Given the description of an element on the screen output the (x, y) to click on. 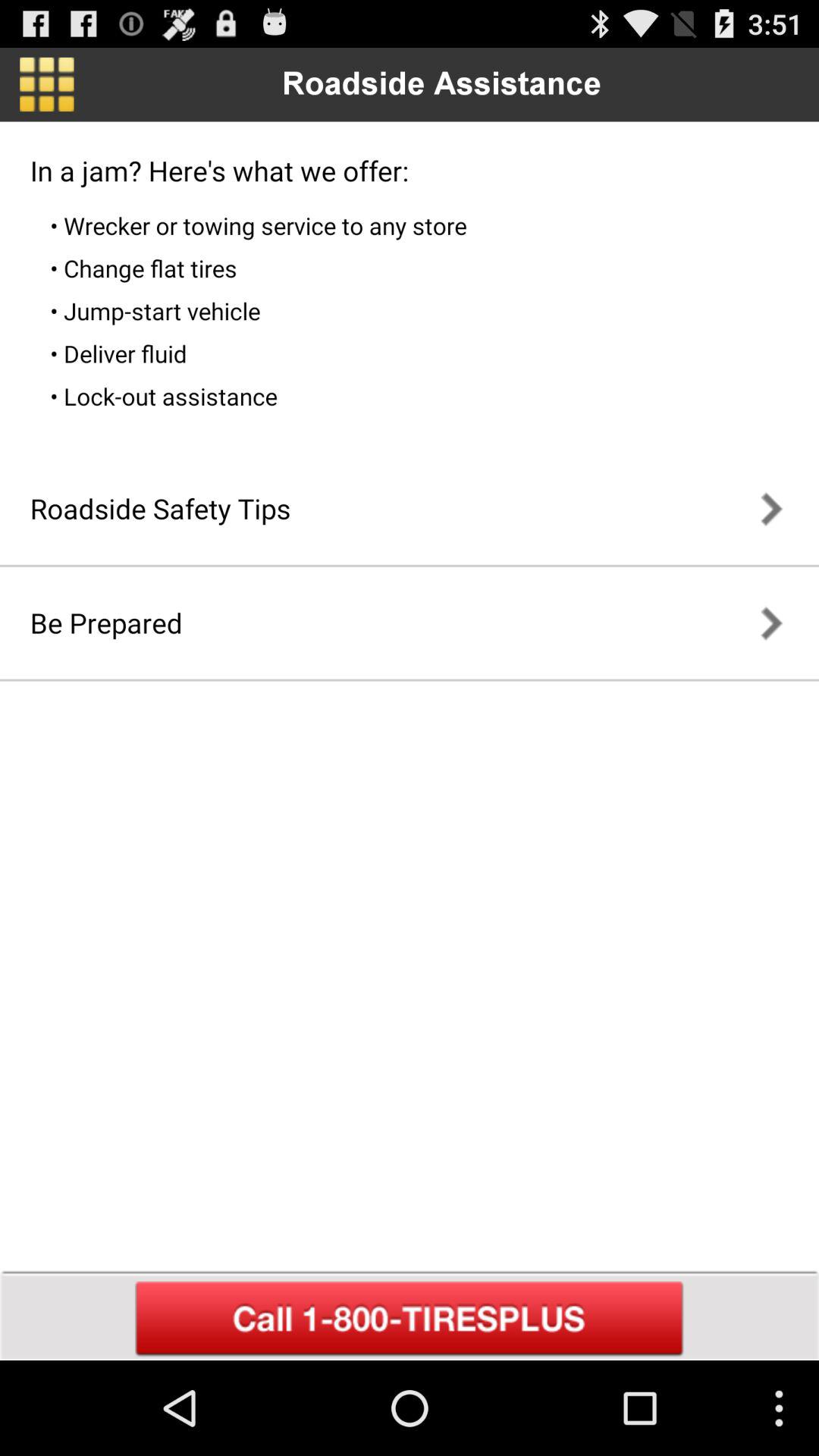
turn off app below the be prepared app (409, 1319)
